Given the description of an element on the screen output the (x, y) to click on. 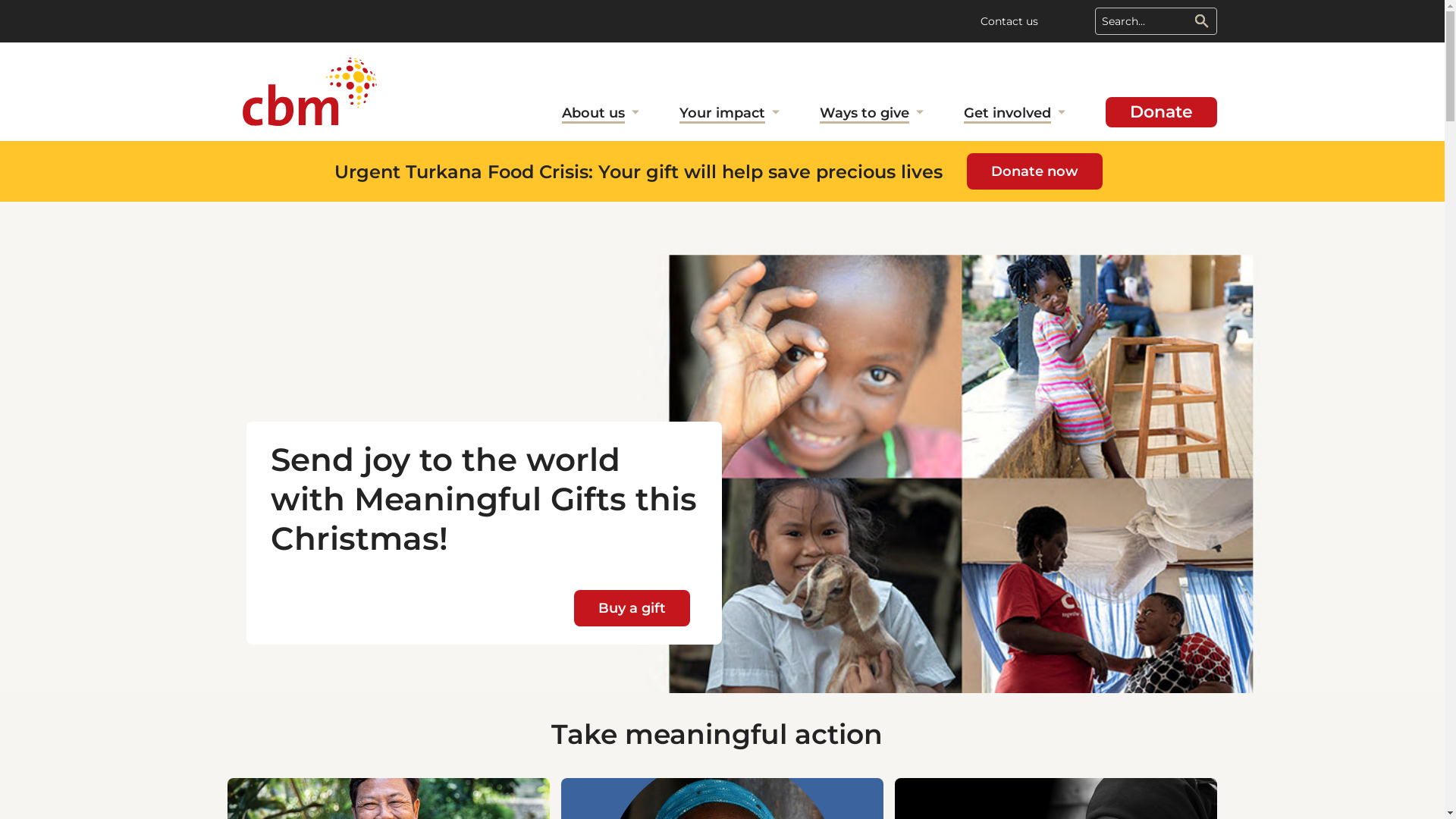
About us Element type: text (593, 114)
Get involved Element type: text (1007, 114)
Show submenu for "Ways to give" Element type: text (919, 114)
Buy a gift Element type: text (632, 607)
Show submenu for "About us" Element type: text (635, 114)
Show submenu for "Get involved" Element type: text (1061, 114)
Your impact Element type: text (722, 114)
Donate Element type: text (1161, 112)
Donate now
and your gift will help save precious lives Element type: text (1034, 171)
Contact us Element type: text (1009, 20)
Show submenu for "Your impact" Element type: text (775, 114)
Ways to give Element type: text (864, 114)
